Given the description of an element on the screen output the (x, y) to click on. 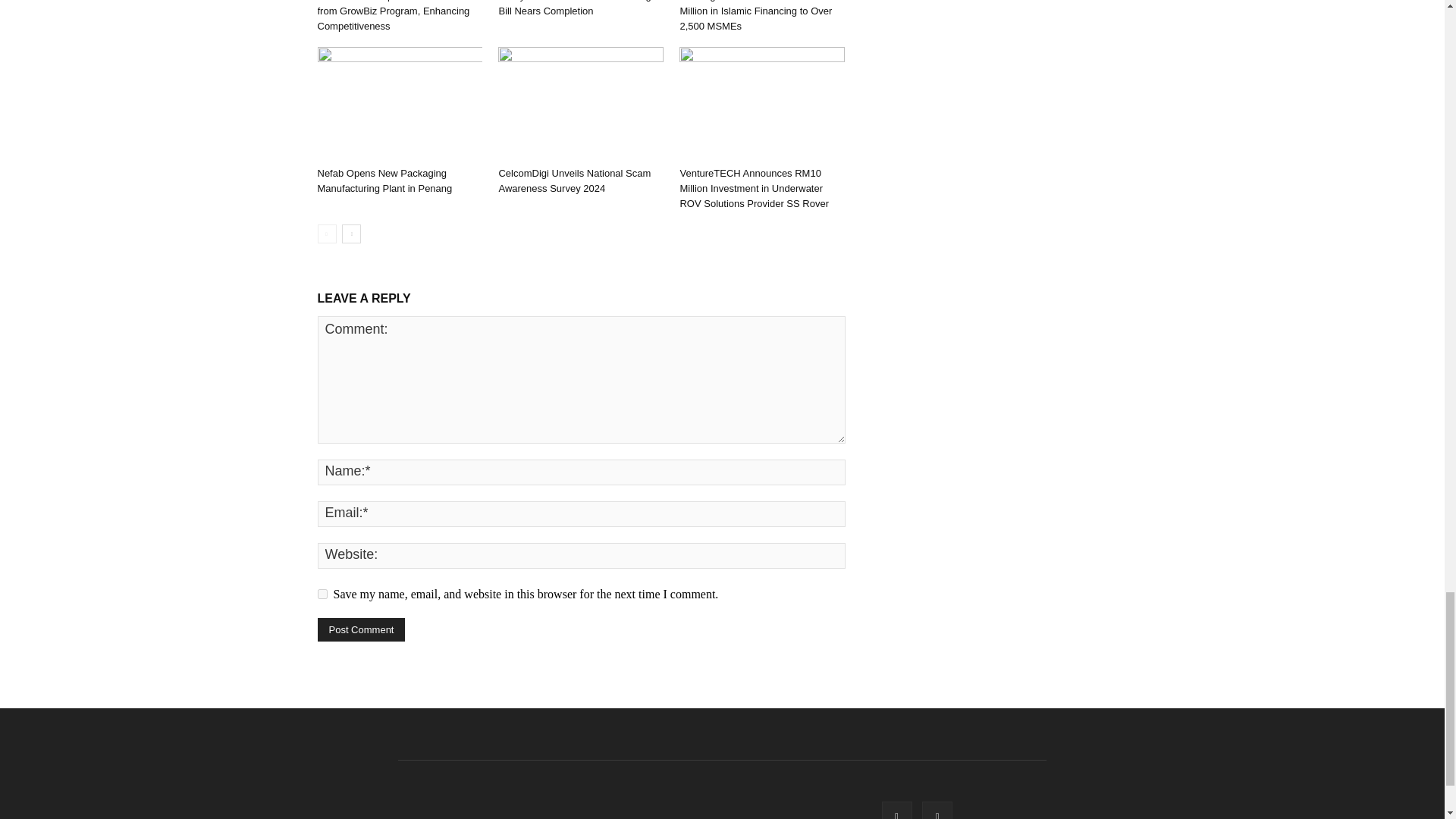
Post Comment (360, 629)
yes (321, 593)
